Given the description of an element on the screen output the (x, y) to click on. 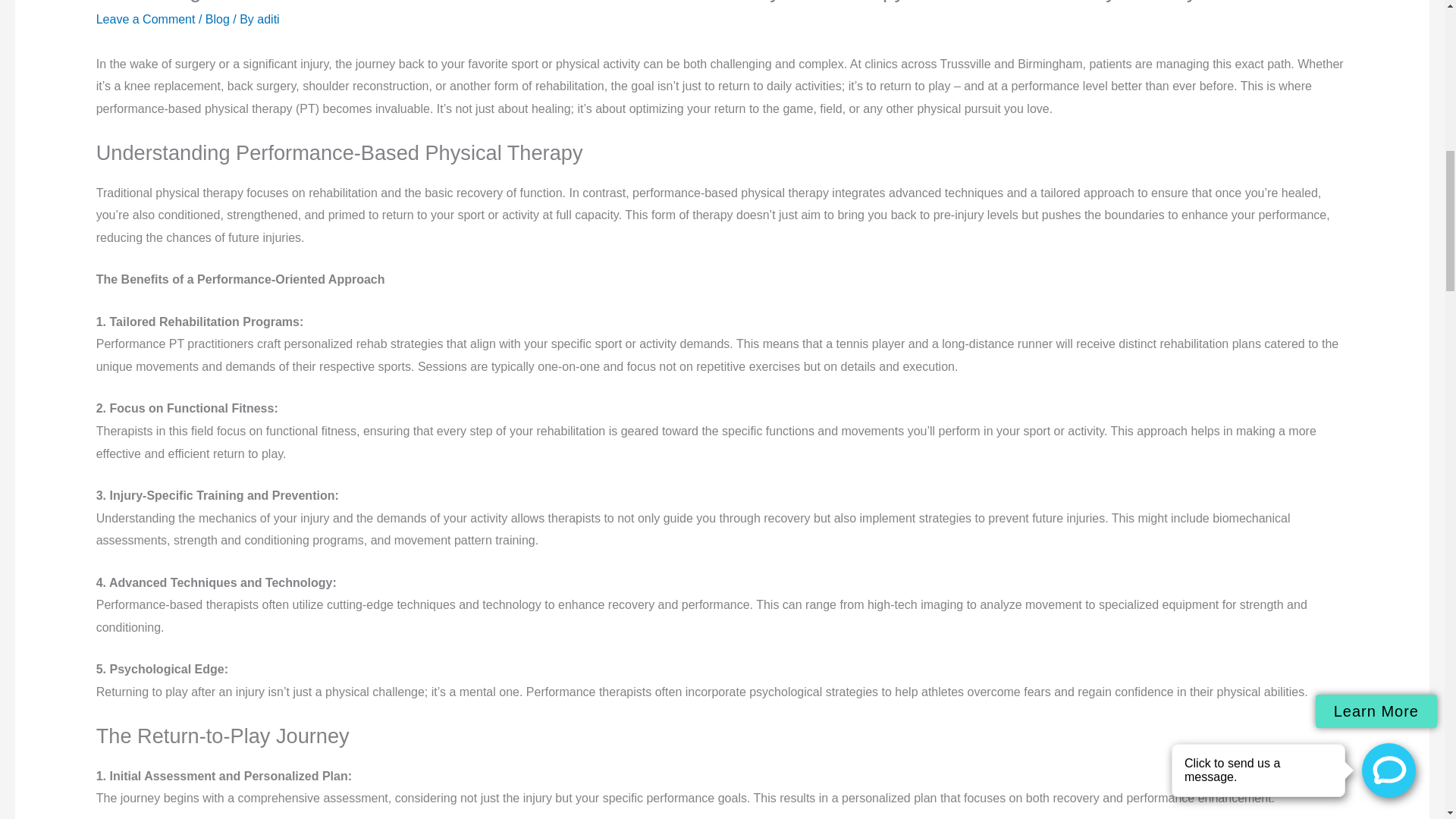
Blog (217, 19)
Leave a Comment (145, 19)
View all posts by aditi (268, 19)
aditi (268, 19)
